Given the description of an element on the screen output the (x, y) to click on. 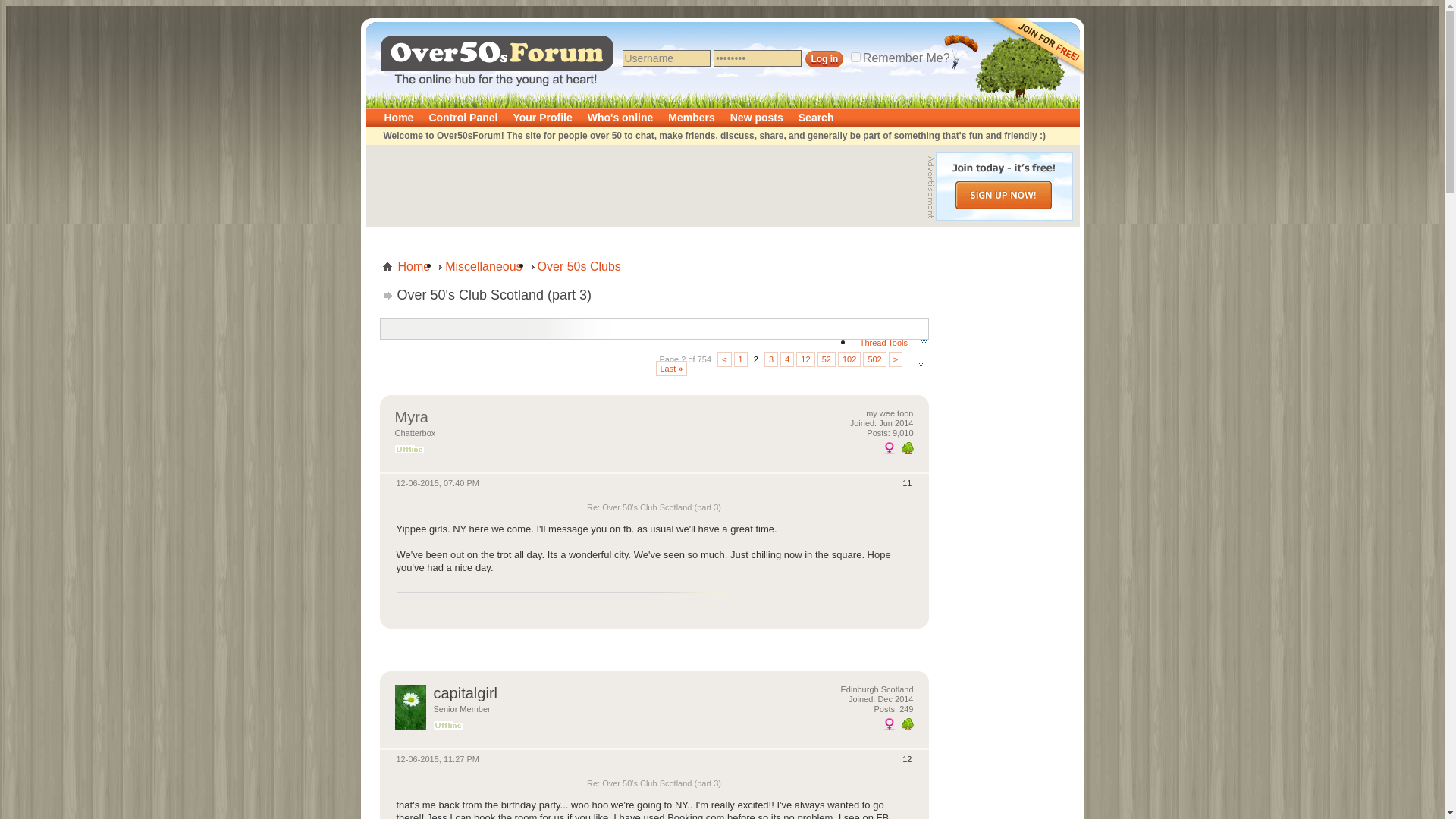
New posts (756, 117)
Over50s Forum (449, 31)
3 (770, 359)
Username (665, 57)
Show results 31 to 40 of 7,536 (786, 359)
Your Profile (542, 117)
Advertisement (1003, 801)
Members (691, 117)
Join for free (1033, 103)
Over 50s Clubs (579, 266)
Advertisement (1003, 750)
Who's online (620, 117)
1 (740, 359)
Show results 111 to 120 of 7,536 (804, 359)
Miscellaneous (483, 266)
